Given the description of an element on the screen output the (x, y) to click on. 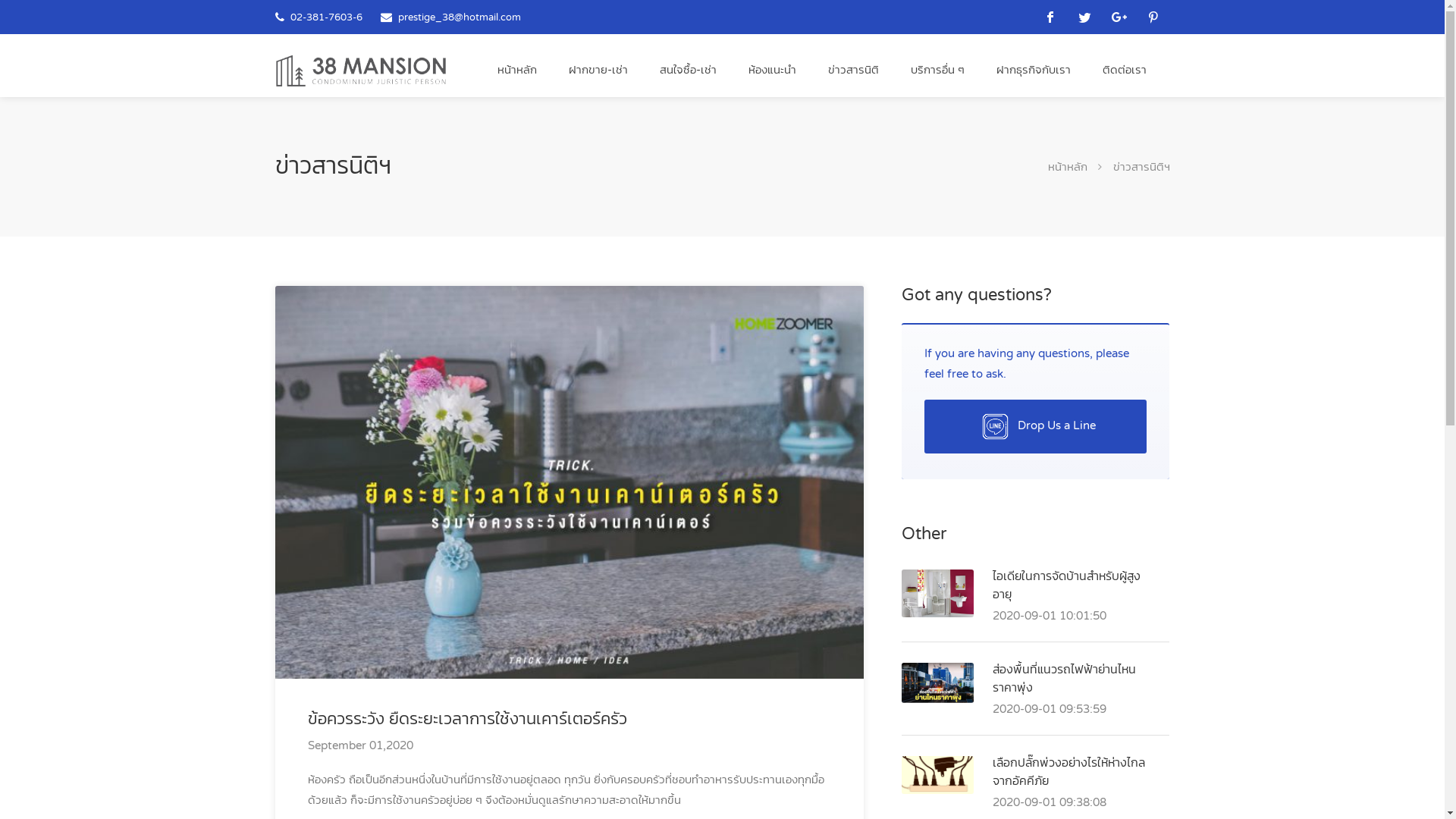
prestige_38@hotmail.com Element type: text (458, 17)
Drop Us a Line Element type: text (1035, 426)
